Given the description of an element on the screen output the (x, y) to click on. 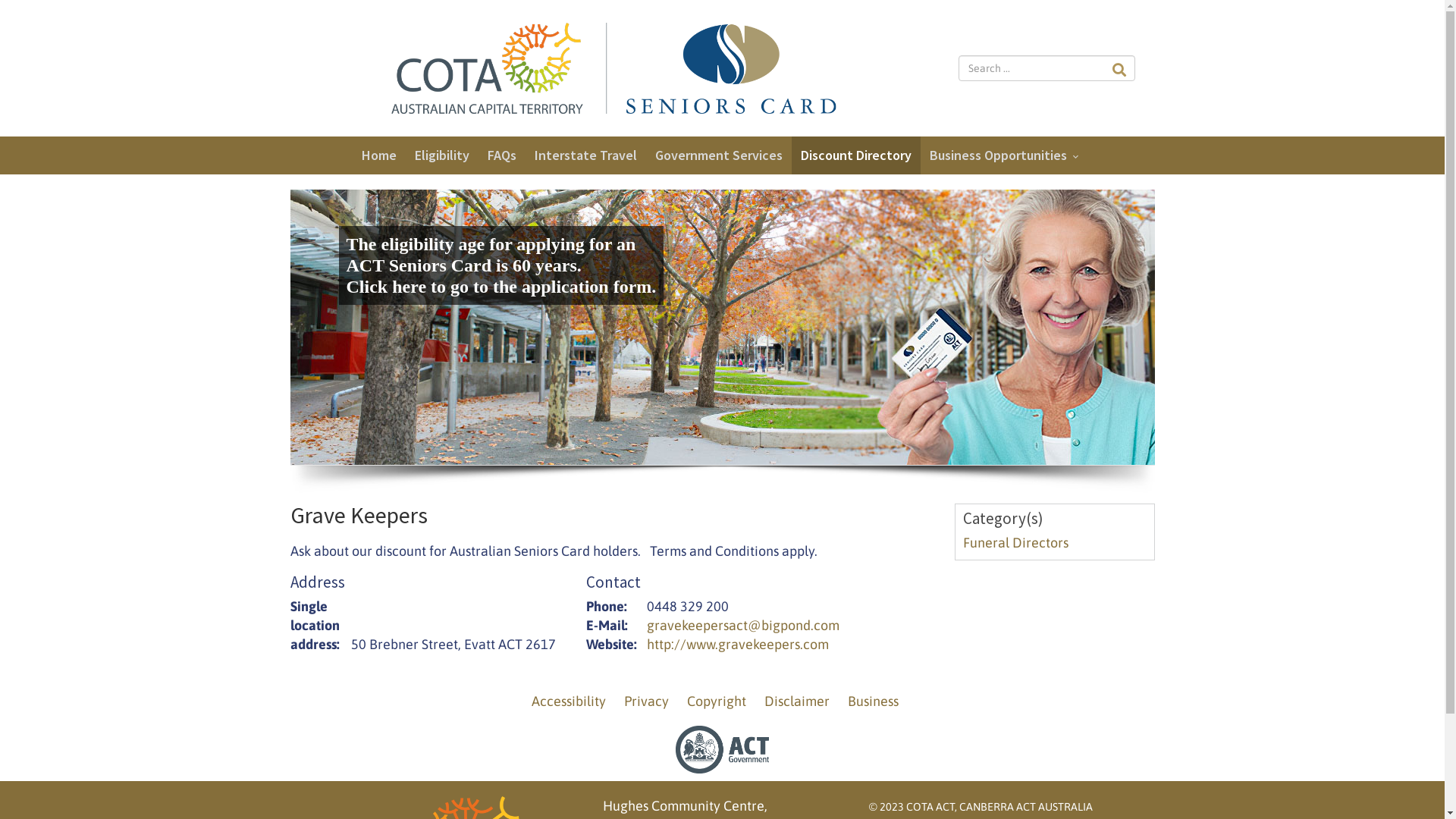
Disclaimer Element type: text (796, 701)
Funeral Directors Element type: text (1015, 542)
Government Services Element type: text (718, 155)
Business Element type: text (872, 701)
Home Element type: text (377, 155)
http://www.gravekeepers.com Element type: text (737, 644)
Privacy Element type: text (645, 701)
Eligibility Element type: text (440, 155)
Accessibility Element type: text (567, 701)
Copyright Element type: text (716, 701)
Discount Directory Element type: text (855, 155)
FAQs Element type: text (500, 155)
Interstate Travel Element type: text (584, 155)
Business Opportunities Element type: text (1006, 155)
